Given the description of an element on the screen output the (x, y) to click on. 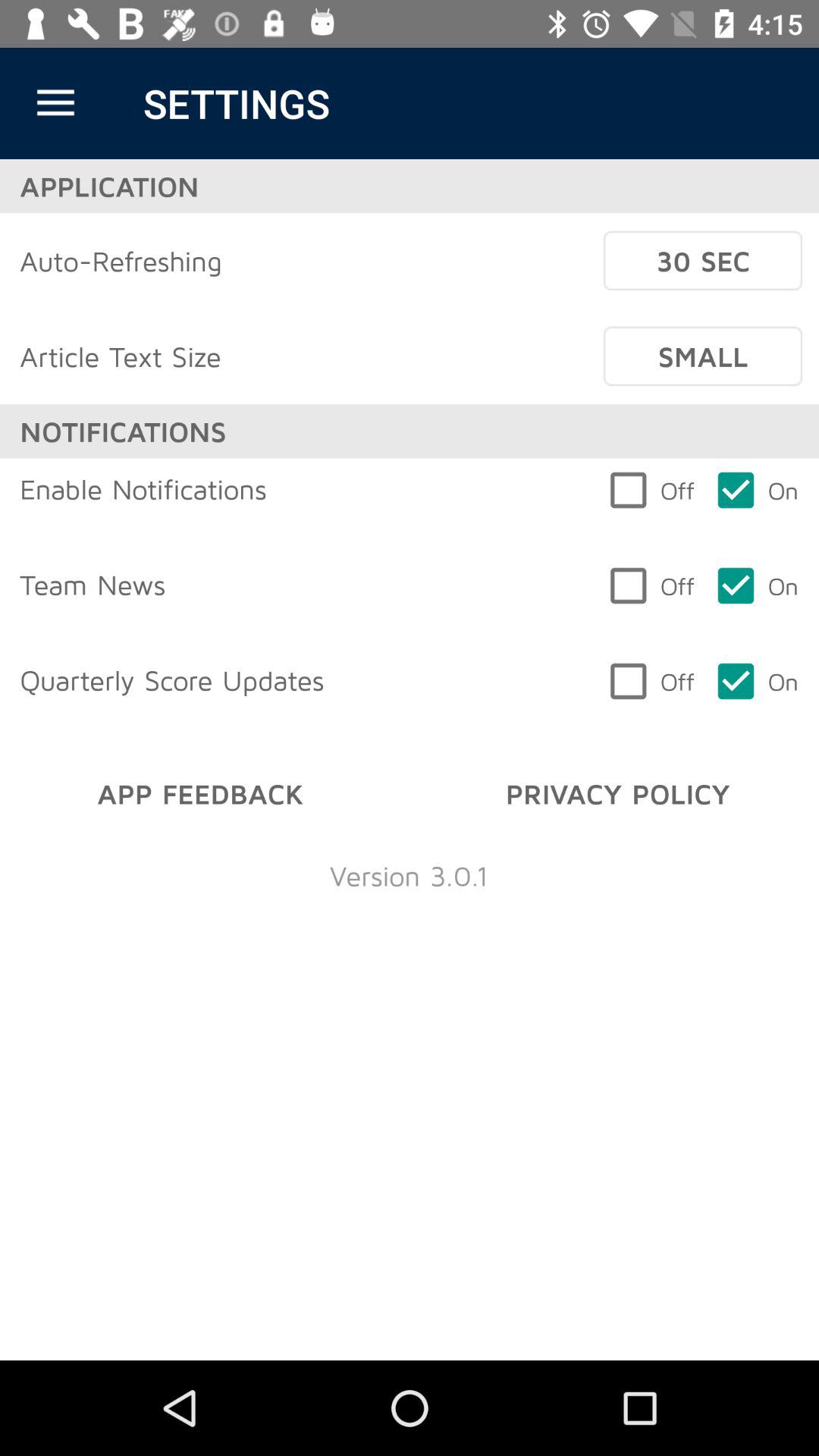
turn on the icon to the left of the settings item (55, 103)
